Given the description of an element on the screen output the (x, y) to click on. 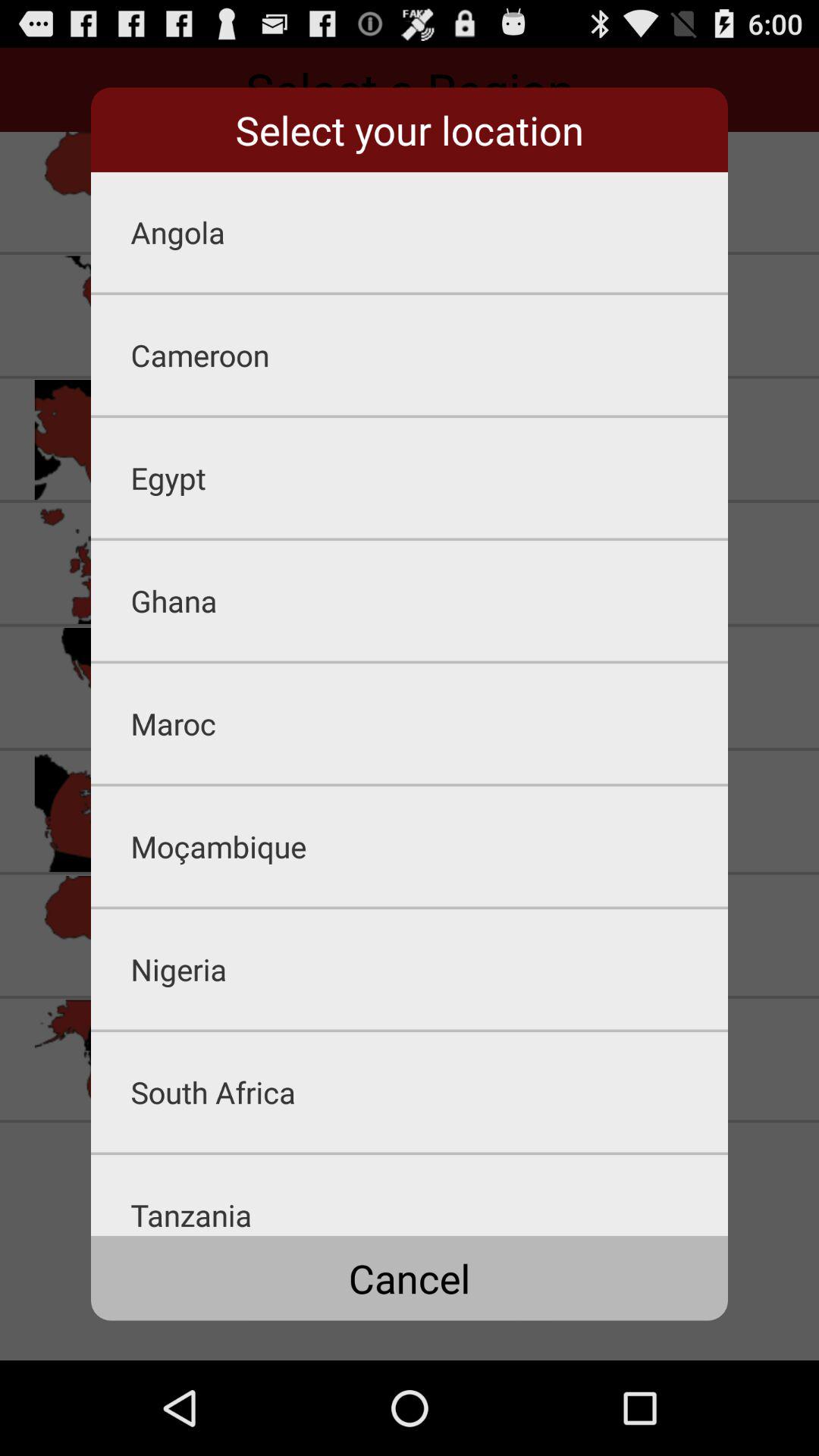
turn on tanzania icon (429, 1195)
